Given the description of an element on the screen output the (x, y) to click on. 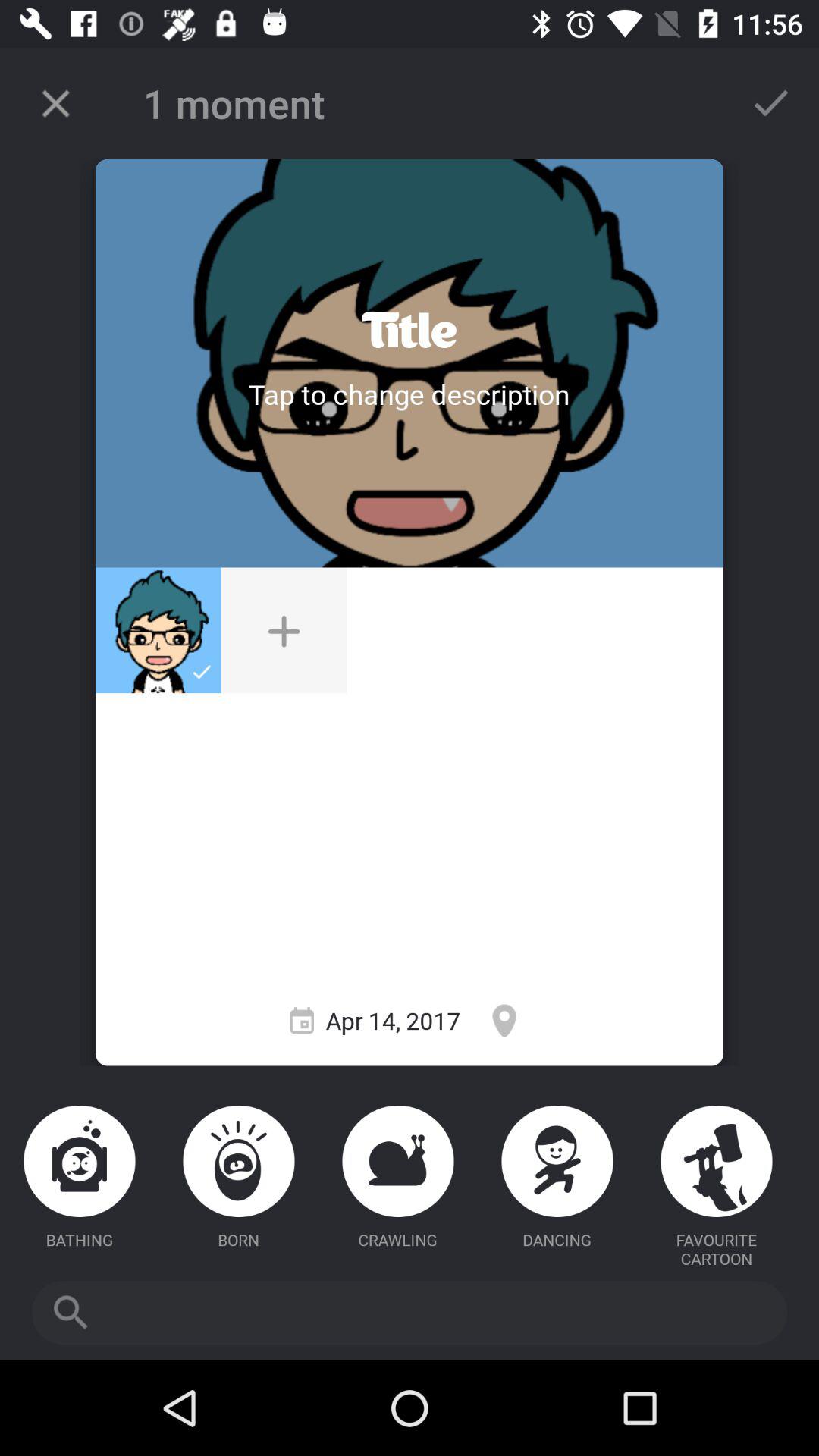
close tab (55, 103)
